Given the description of an element on the screen output the (x, y) to click on. 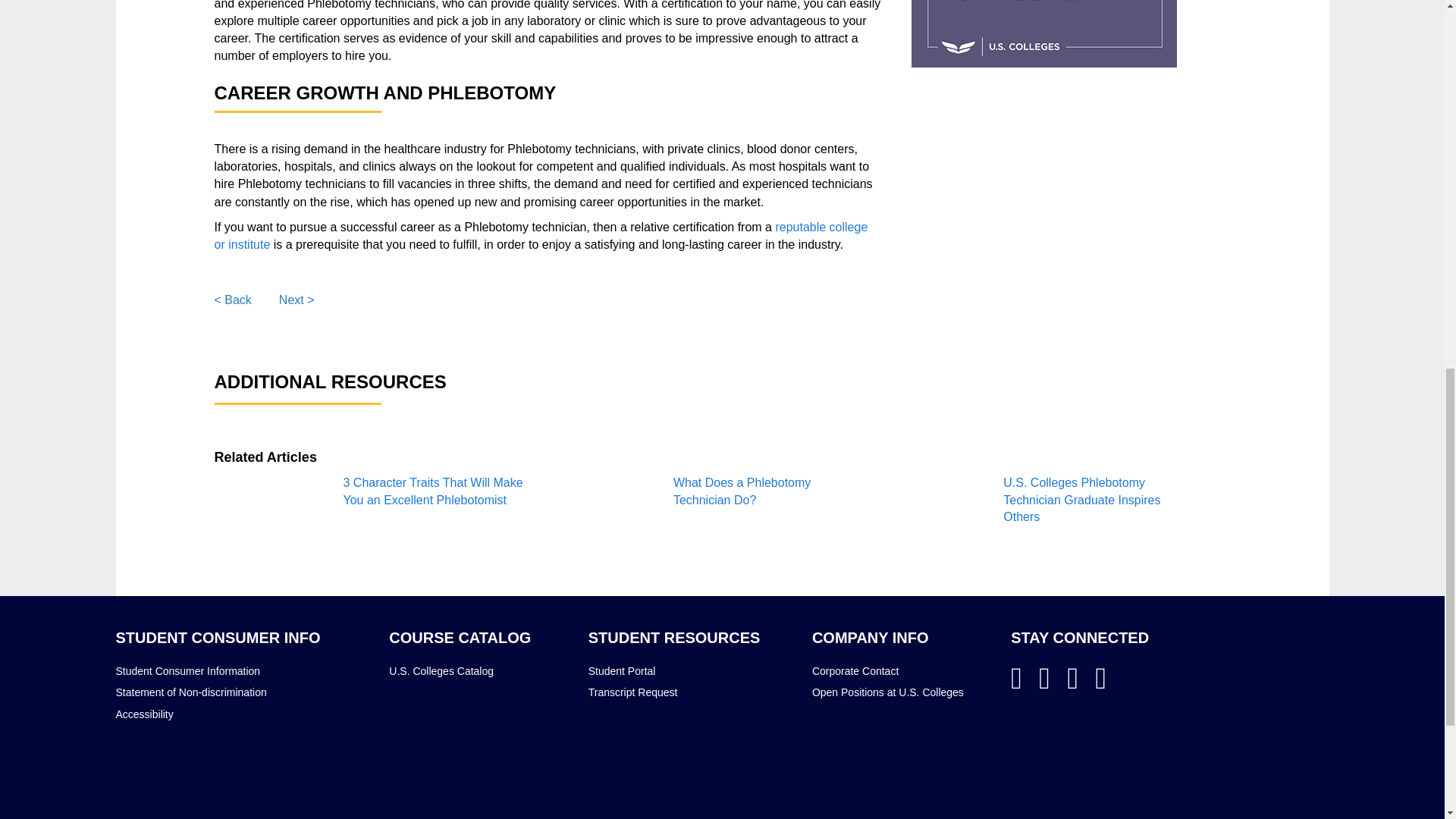
Stay Connected (1079, 637)
uscmed-blog-archive-banner (1043, 33)
U.S. College (1098, 737)
